Given the description of an element on the screen output the (x, y) to click on. 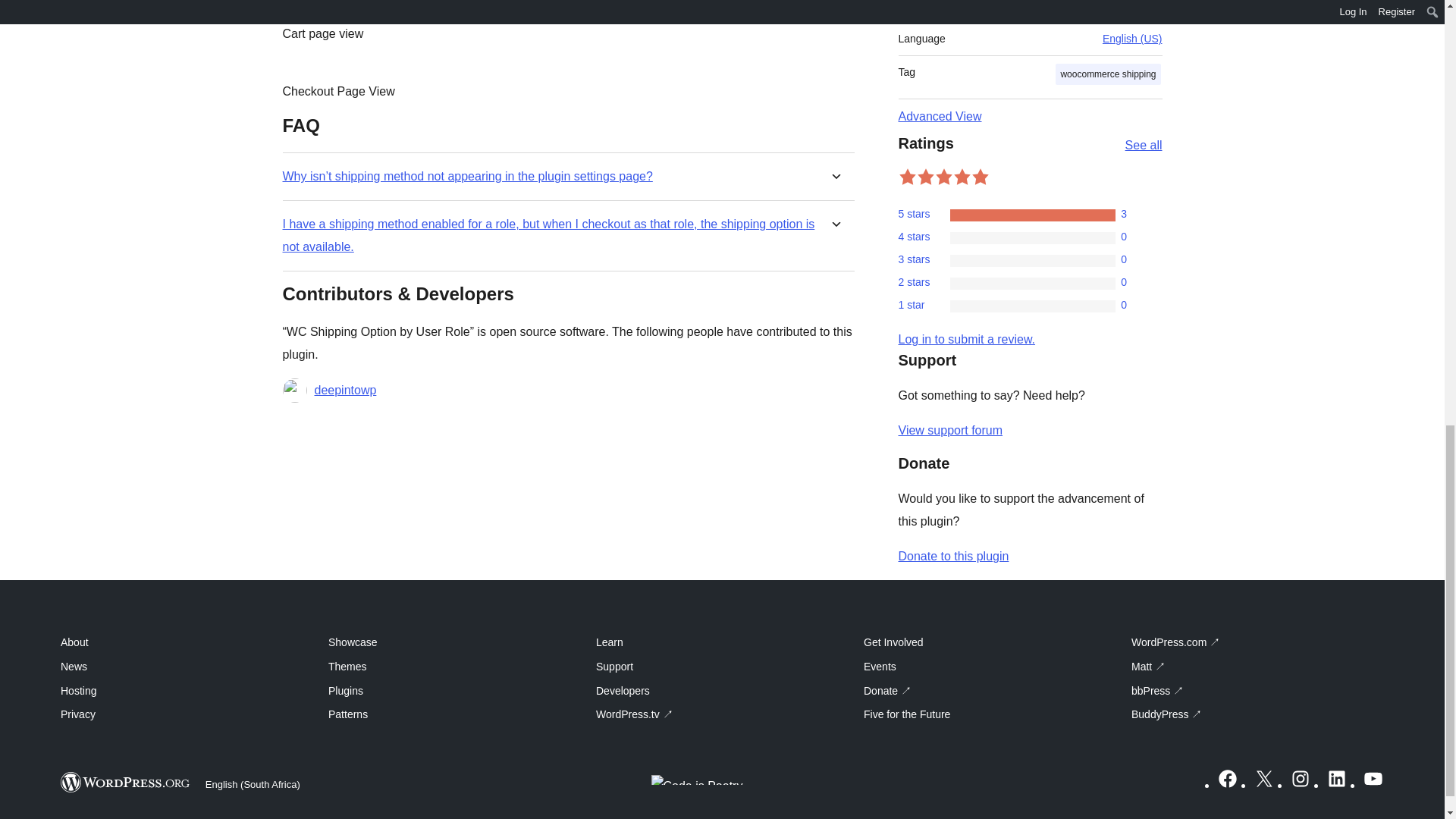
WordPress.org (125, 782)
Log in to WordPress.org (966, 338)
